Given the description of an element on the screen output the (x, y) to click on. 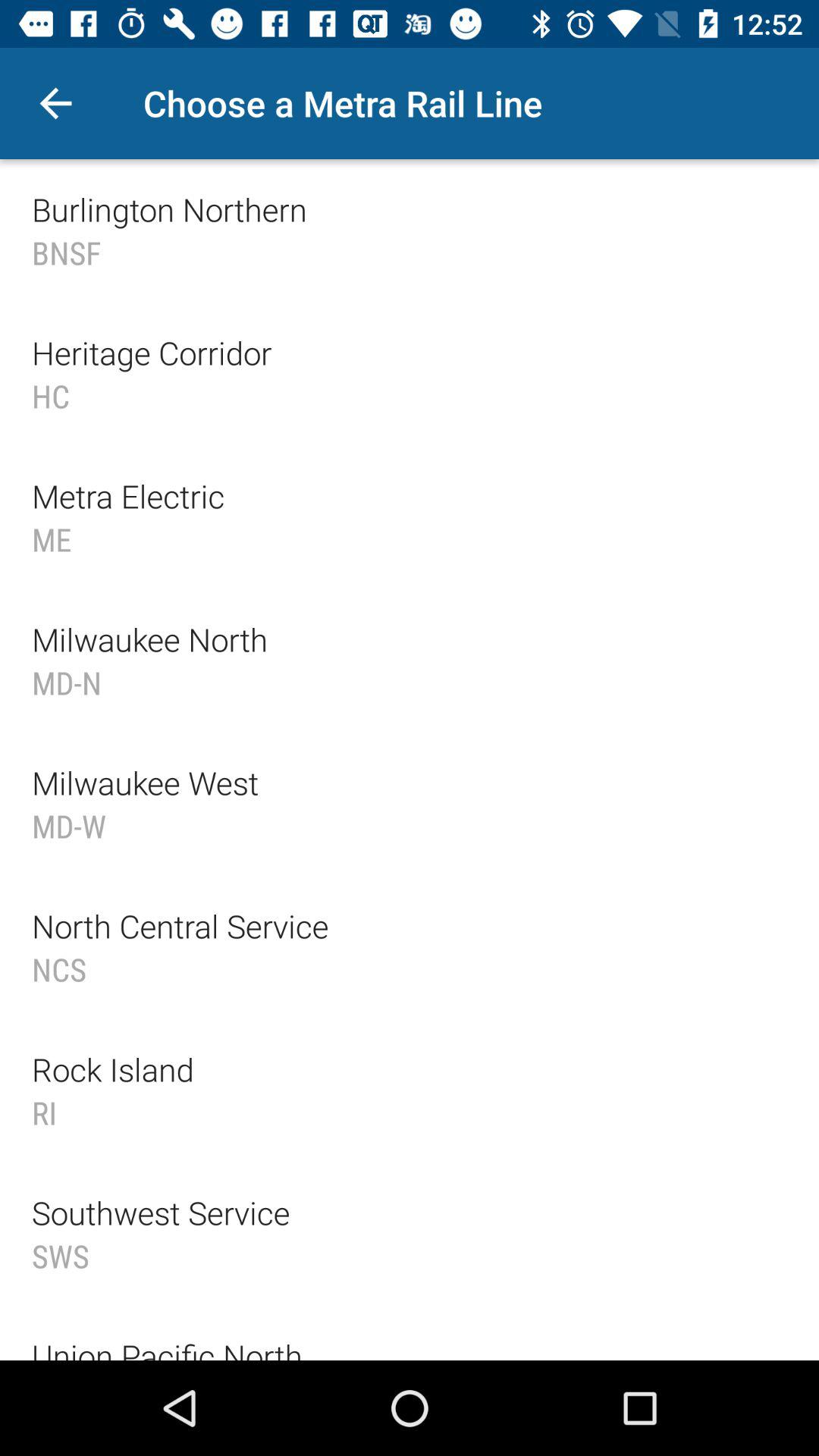
choose item above the burlington northern (55, 103)
